Given the description of an element on the screen output the (x, y) to click on. 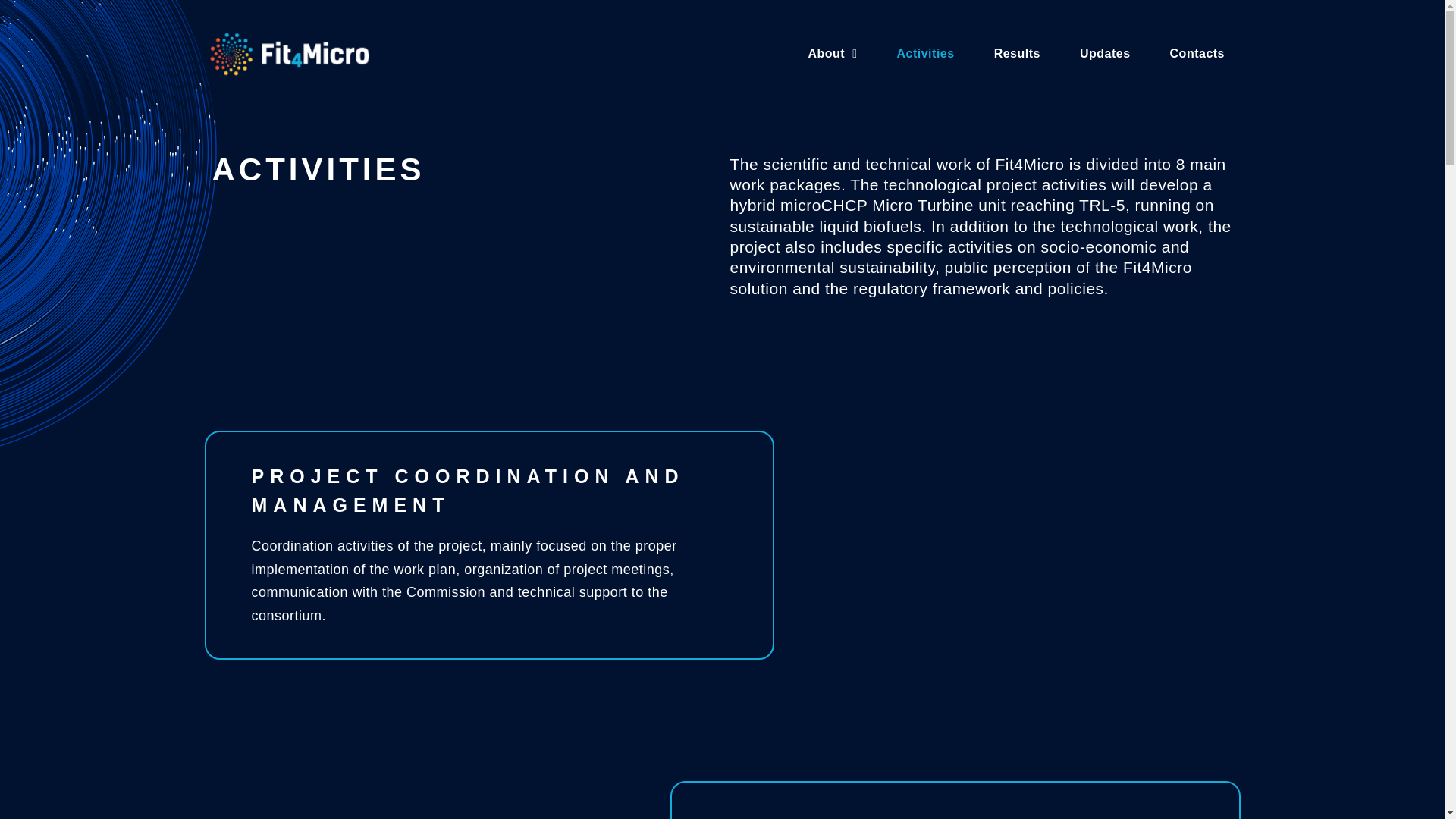
Contacts (1197, 53)
Results (1016, 53)
About (832, 53)
Updates (1104, 53)
Activities (924, 53)
